Given the description of an element on the screen output the (x, y) to click on. 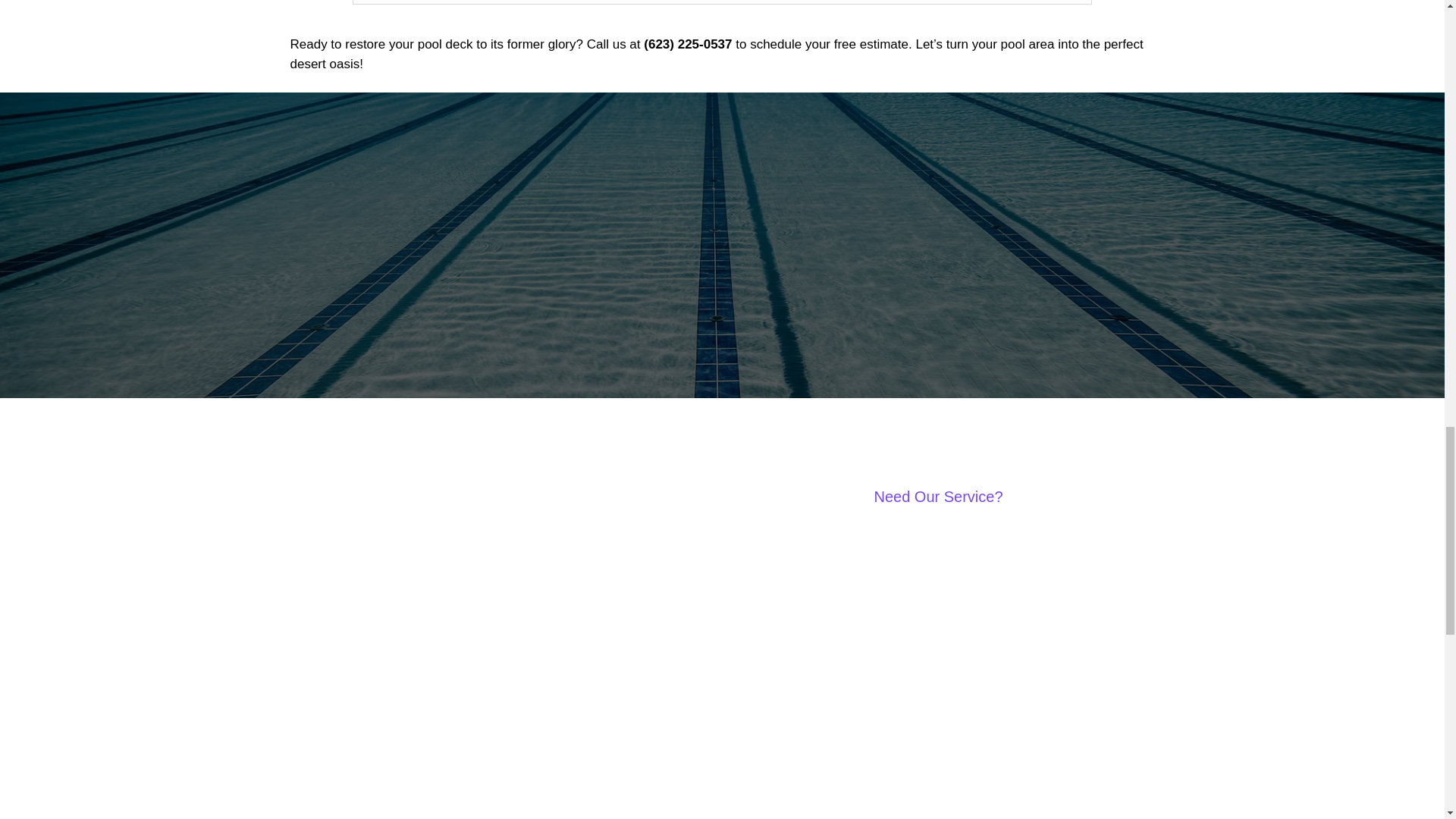
Form 0 (938, 669)
